Given the description of an element on the screen output the (x, y) to click on. 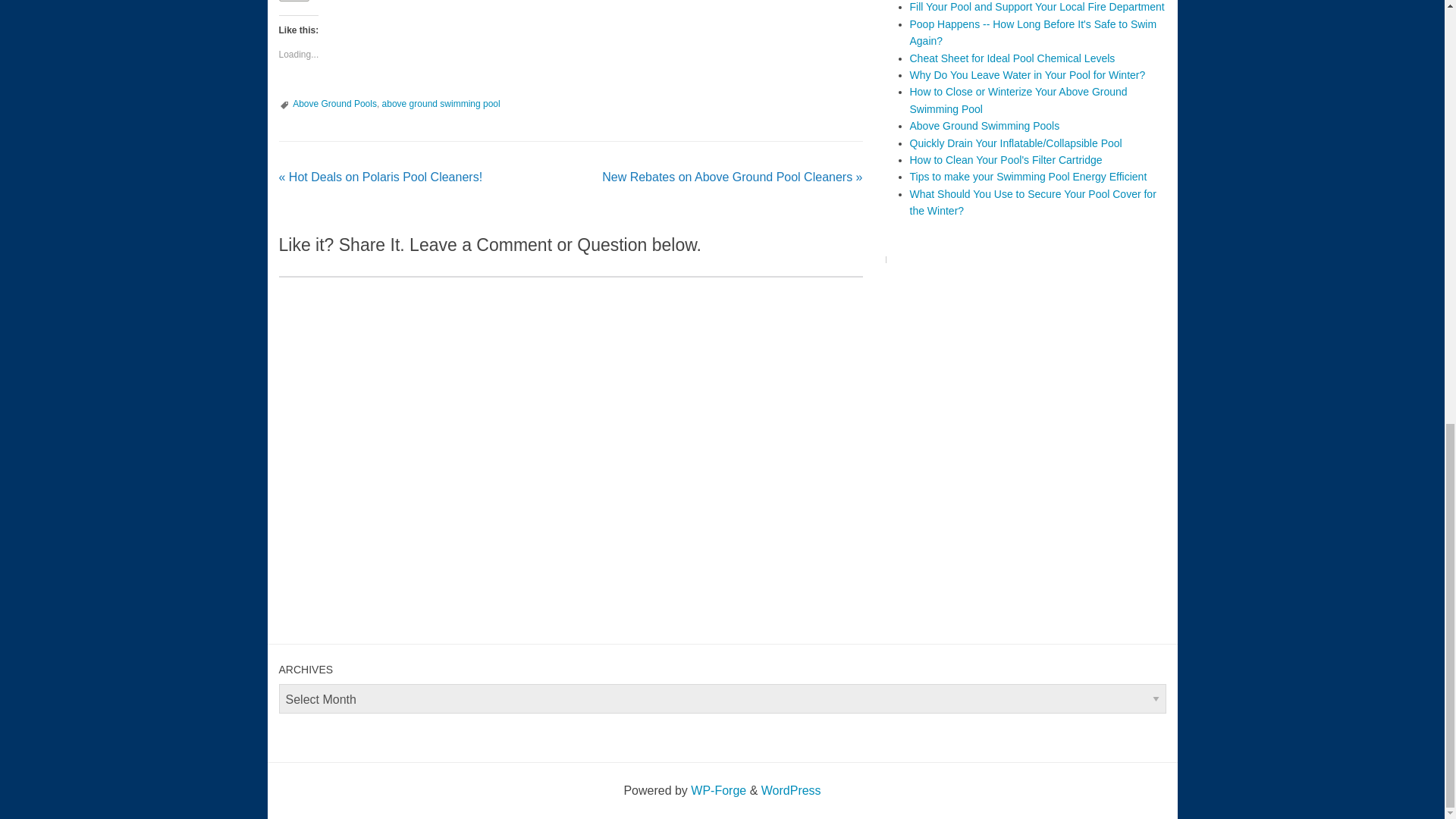
above ground swimming pool (440, 103)
WordPress (791, 789)
A Responsive WordPress Theme (717, 789)
Above Ground Pools (334, 103)
